Given the description of an element on the screen output the (x, y) to click on. 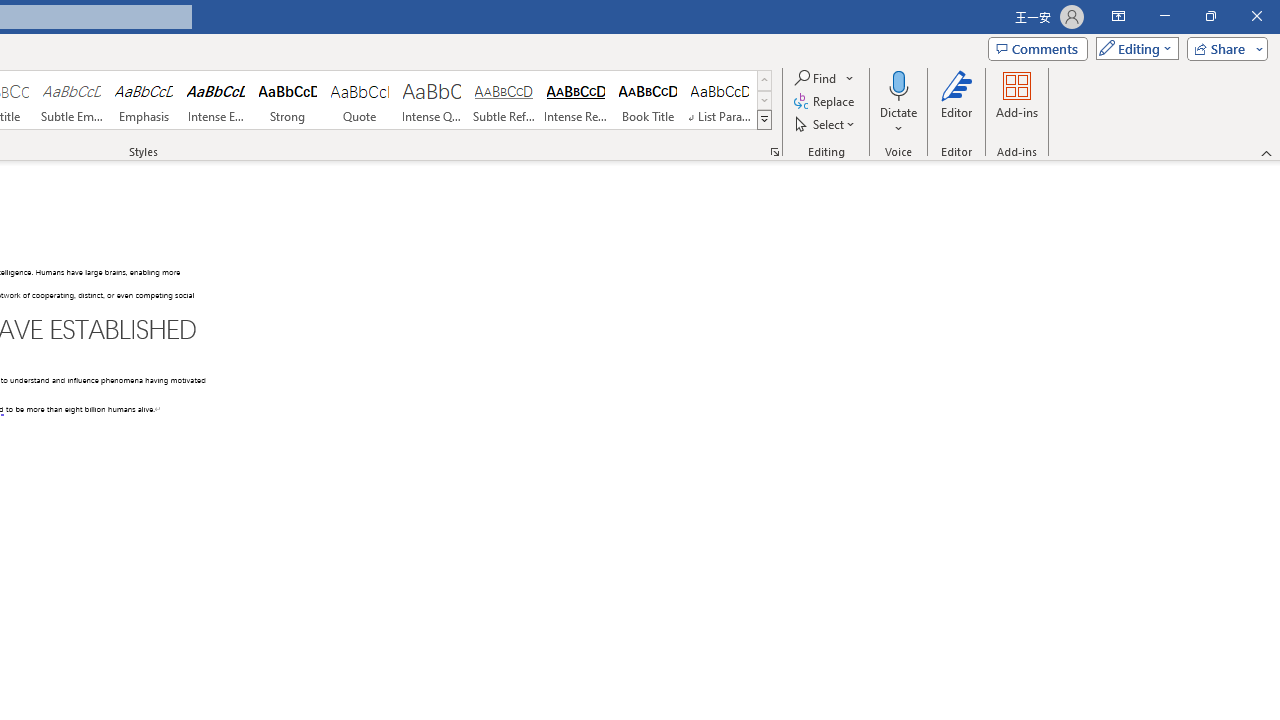
Dictate (899, 102)
Row Down (763, 100)
